Given the description of an element on the screen output the (x, y) to click on. 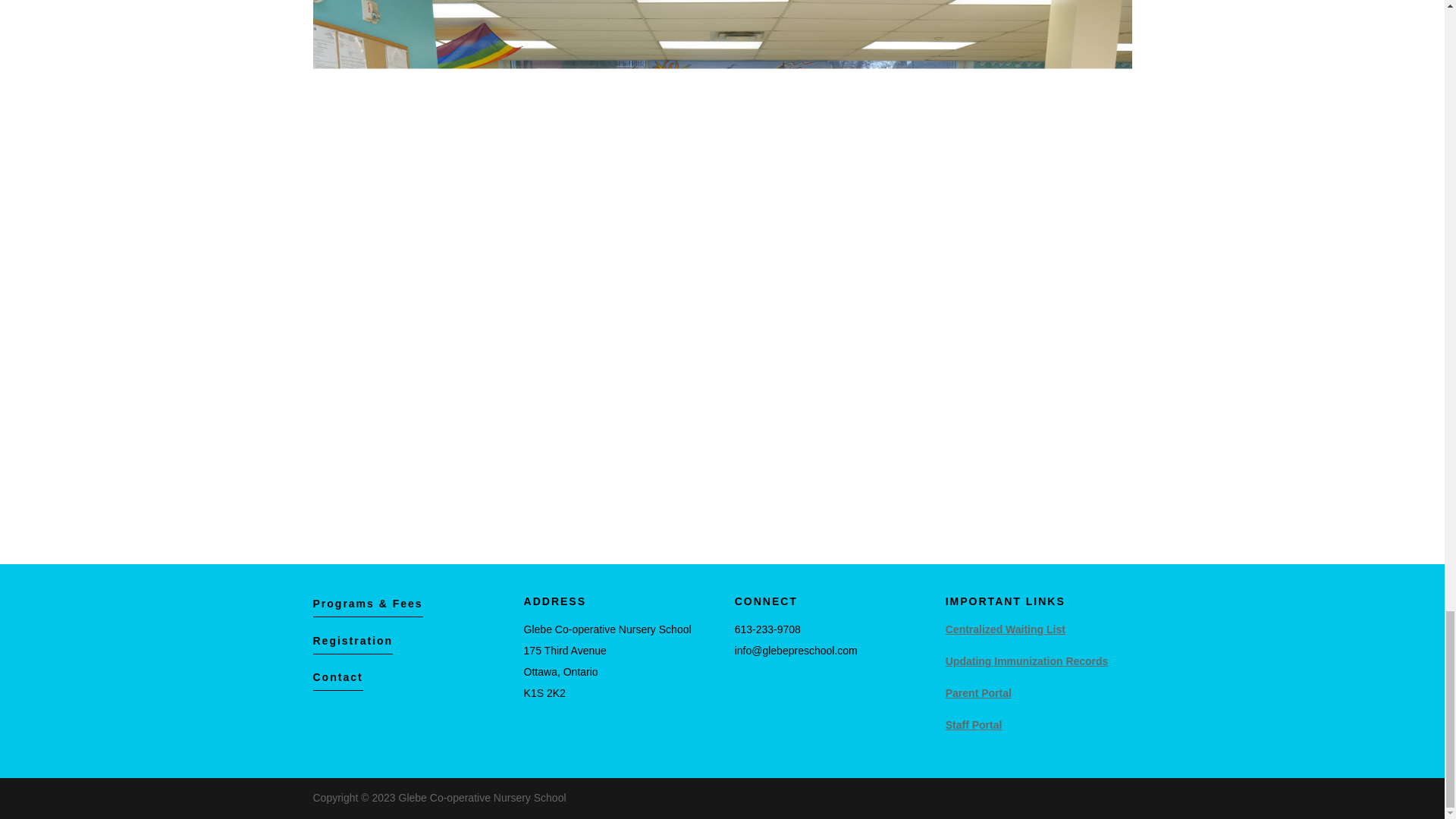
2 (663, 472)
